Given the description of an element on the screen output the (x, y) to click on. 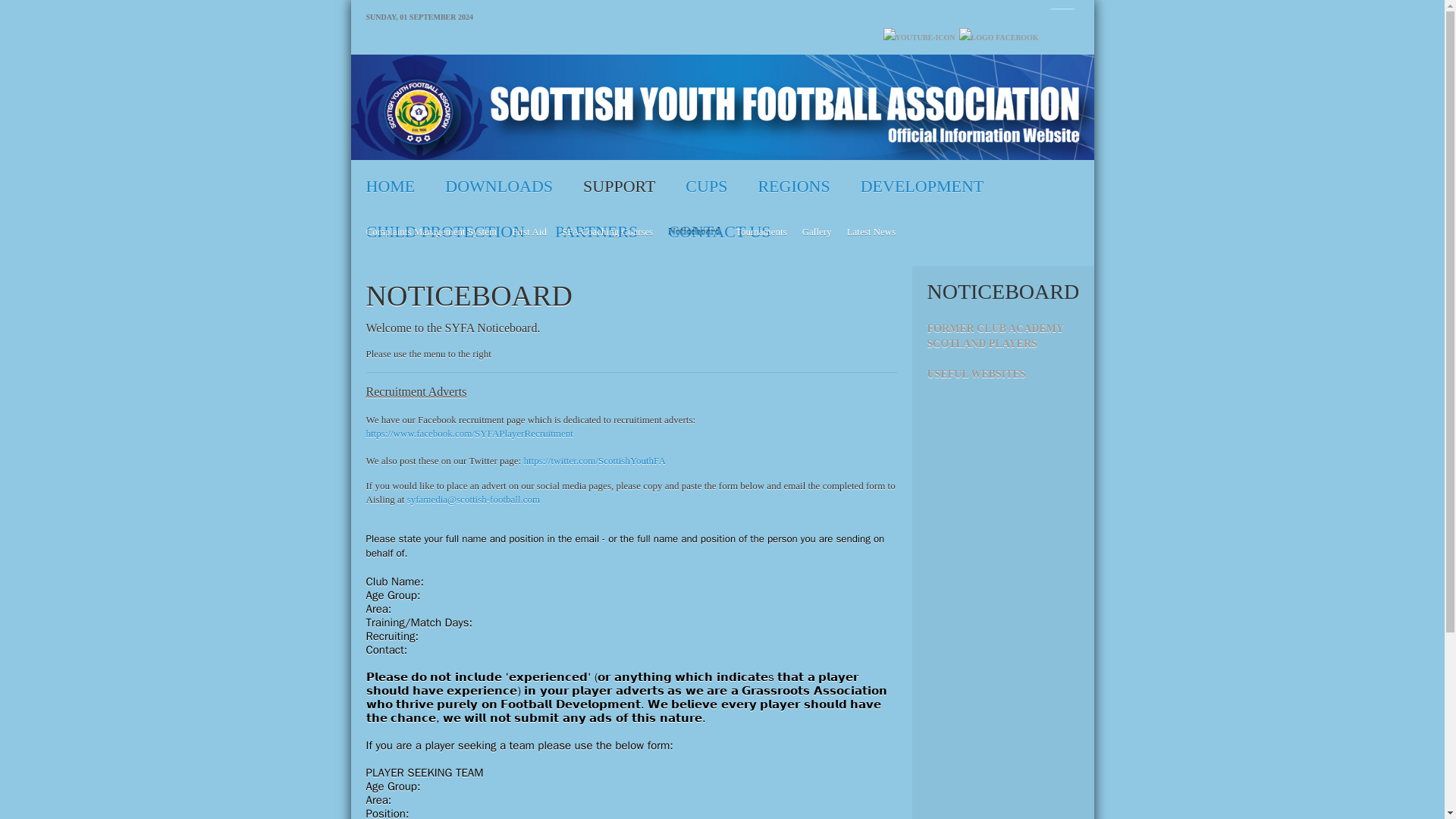
Latest News (872, 227)
First Aid (528, 227)
HOME (389, 178)
DOWNLOADS (498, 178)
SFA Coaching Courses (607, 227)
Gallery (817, 227)
DEVELOPMENT (921, 178)
CONTACT US (719, 224)
CHILD PROTECTION (445, 224)
Tournaments (761, 227)
